Given the description of an element on the screen output the (x, y) to click on. 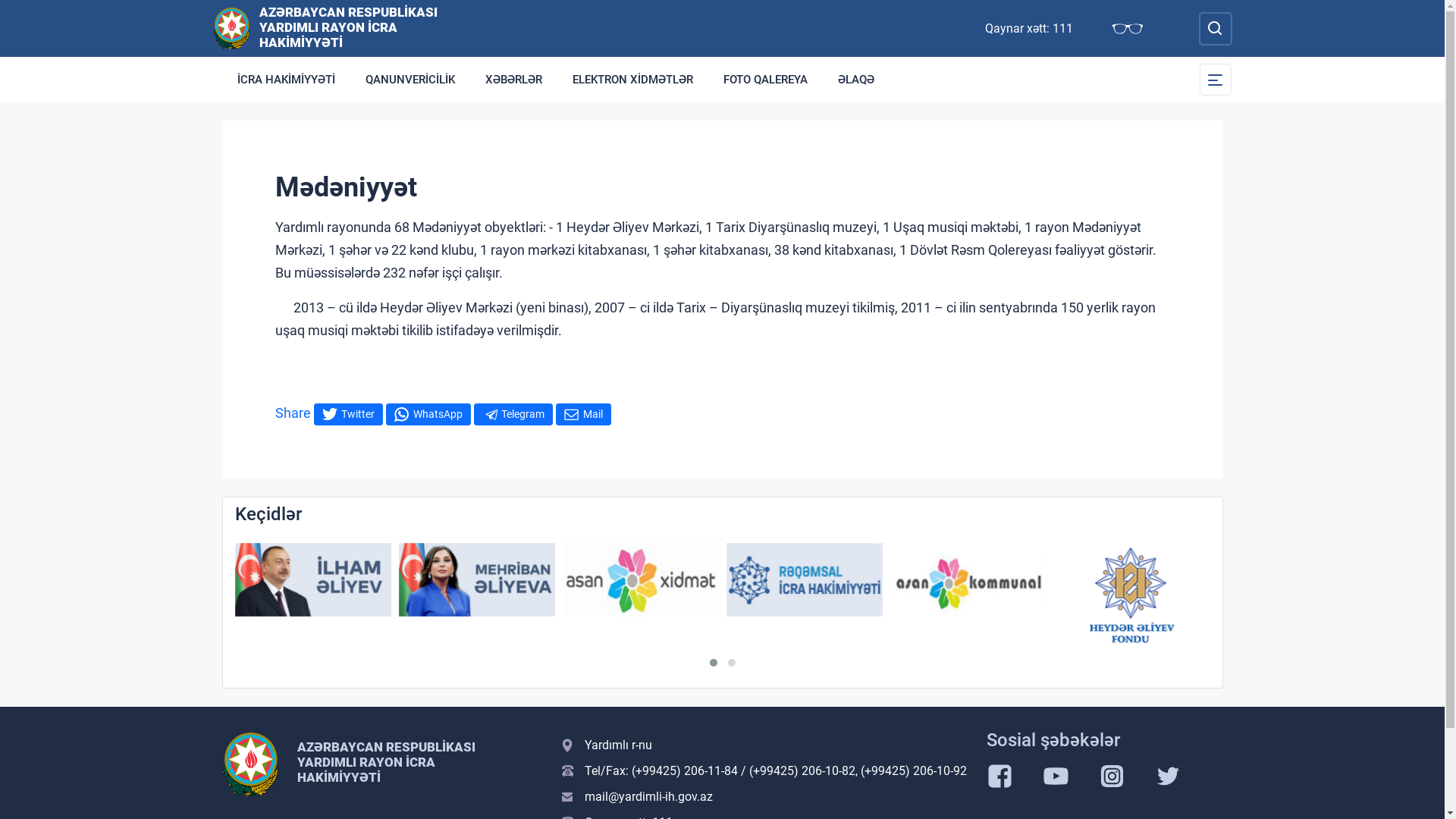
Twitter Element type: text (347, 414)
mail@yardimli-ih.gov.az Element type: text (764, 796)
QANUNVERICILIK Element type: text (410, 79)
WhatsApp Element type: text (427, 414)
Asan komunal Element type: hover (968, 579)
FOTO QALEREYA Element type: text (765, 79)
Share Element type: text (292, 412)
Telegram Element type: text (512, 414)
Mail Element type: text (582, 414)
